Given the description of an element on the screen output the (x, y) to click on. 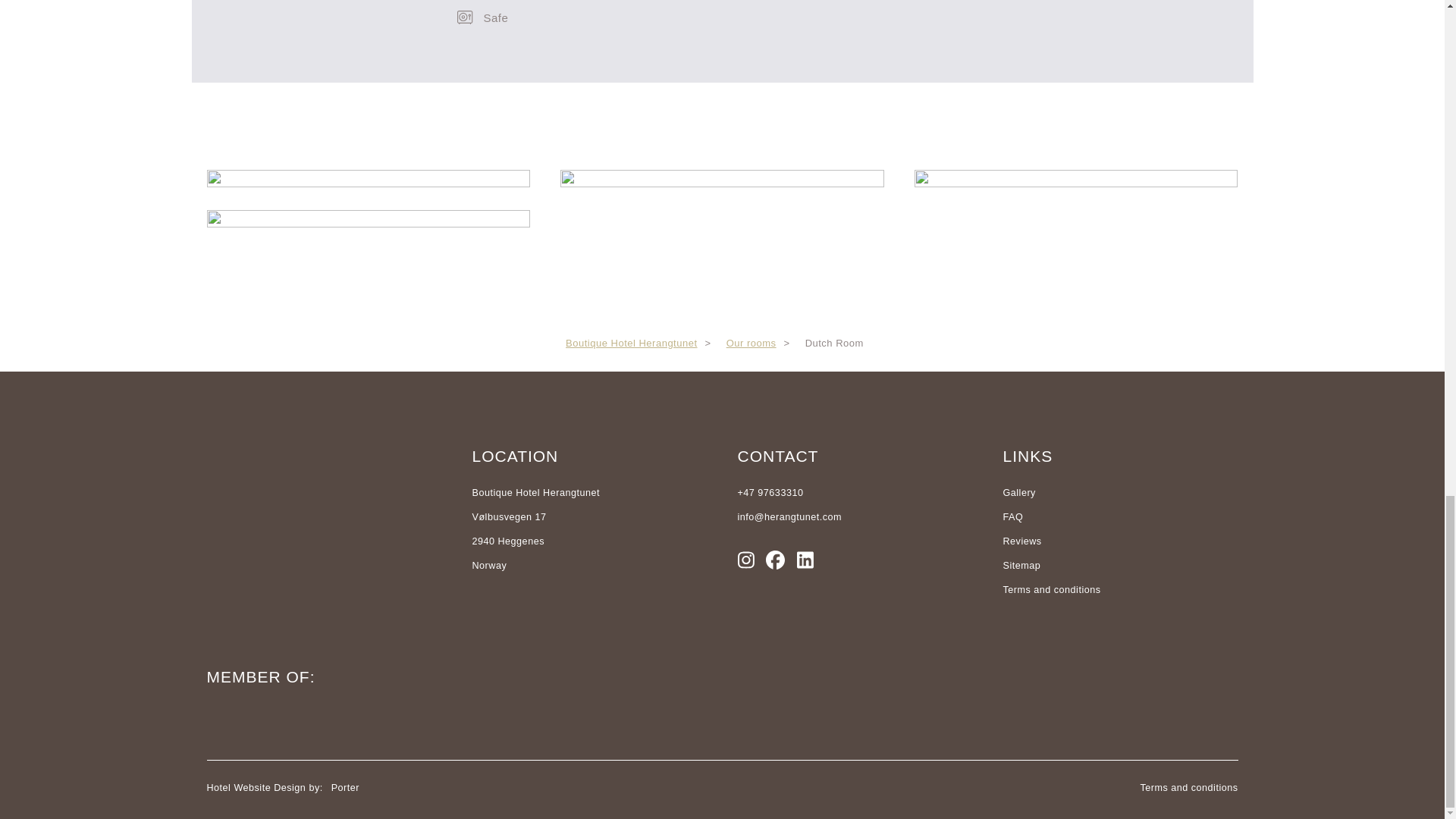
Gallery (1120, 492)
Terms and conditions (1120, 589)
Terms and conditions (1188, 787)
Hotel website design by Porter (257, 787)
FAQ (1120, 517)
Hotel Website Design (257, 787)
Porter (342, 787)
Sitemap (1120, 565)
Reviews (1120, 541)
Boutique Hotel Herangtunet (631, 342)
Our rooms (751, 342)
